Given the description of an element on the screen output the (x, y) to click on. 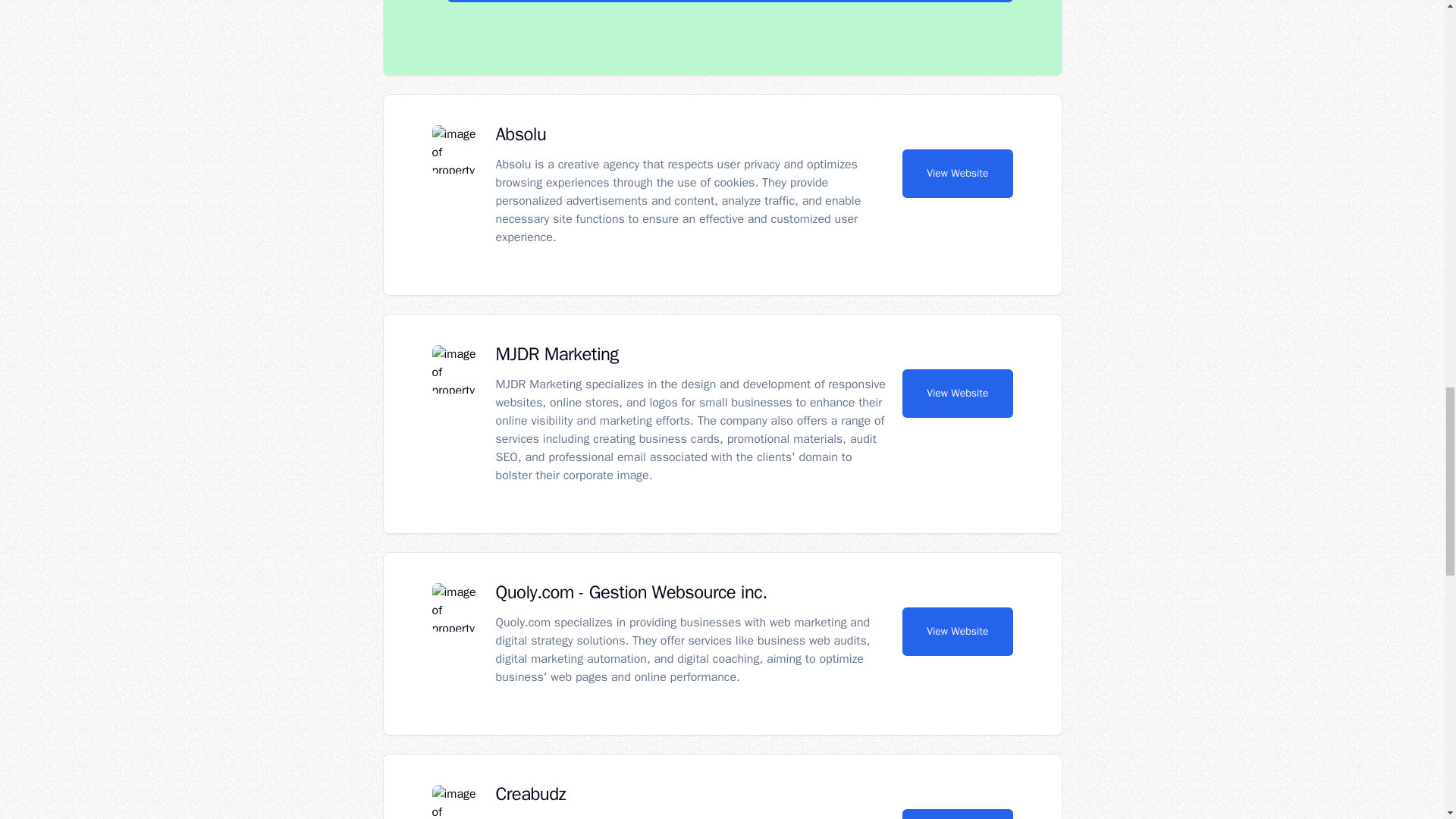
View Website (956, 393)
View Website (956, 814)
View Website (956, 631)
View Website (956, 173)
